Given the description of an element on the screen output the (x, y) to click on. 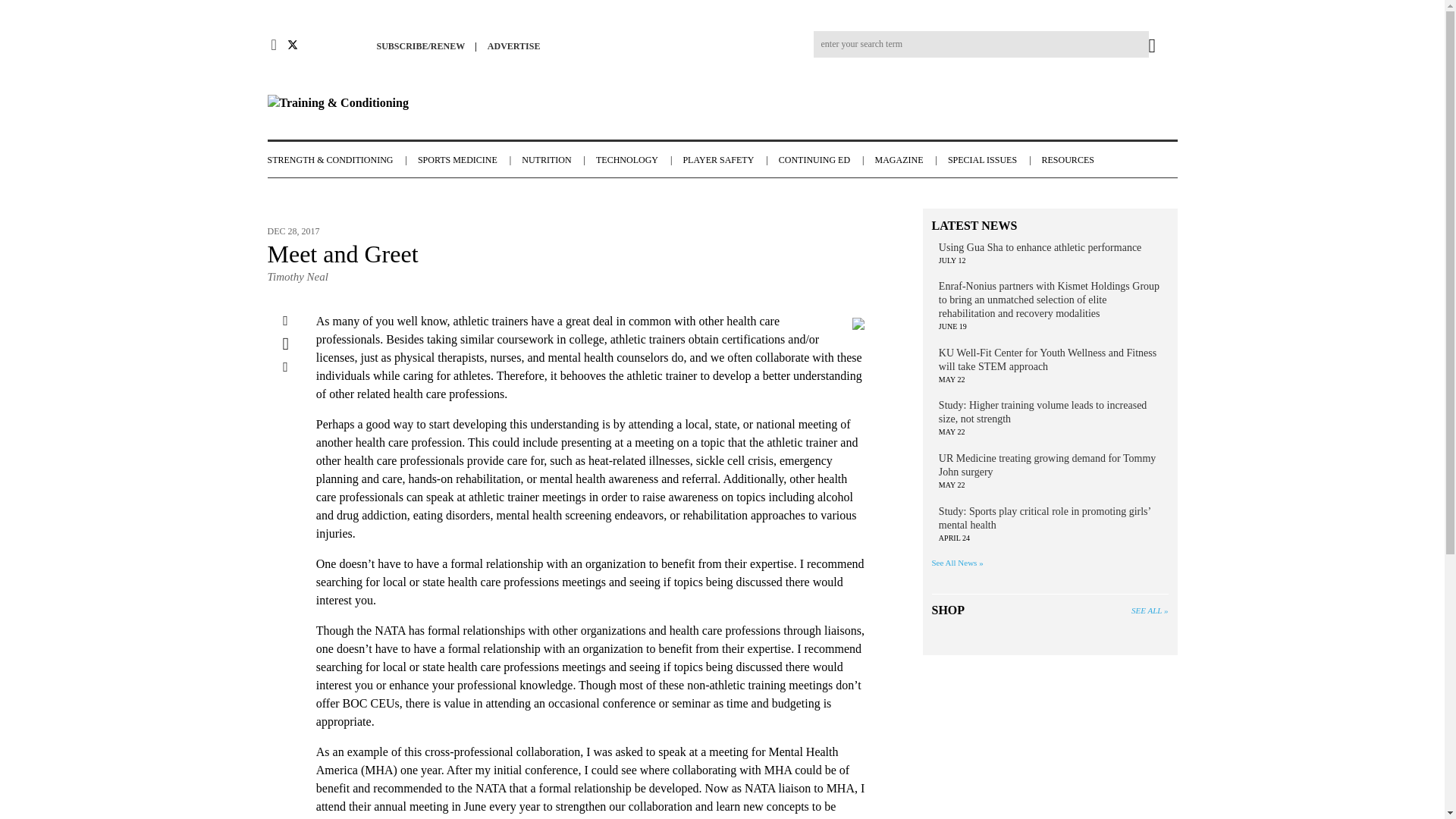
SPECIAL ISSUES (993, 159)
PLAYER SAFETY (728, 159)
RESOURCES (1075, 159)
SPORTS MEDICINE (467, 159)
MAGAZINE (909, 159)
NUTRITION (556, 159)
ADVERTISE (517, 45)
TECHNOLOGY (637, 159)
CONTINUING ED (825, 159)
